Given the description of an element on the screen output the (x, y) to click on. 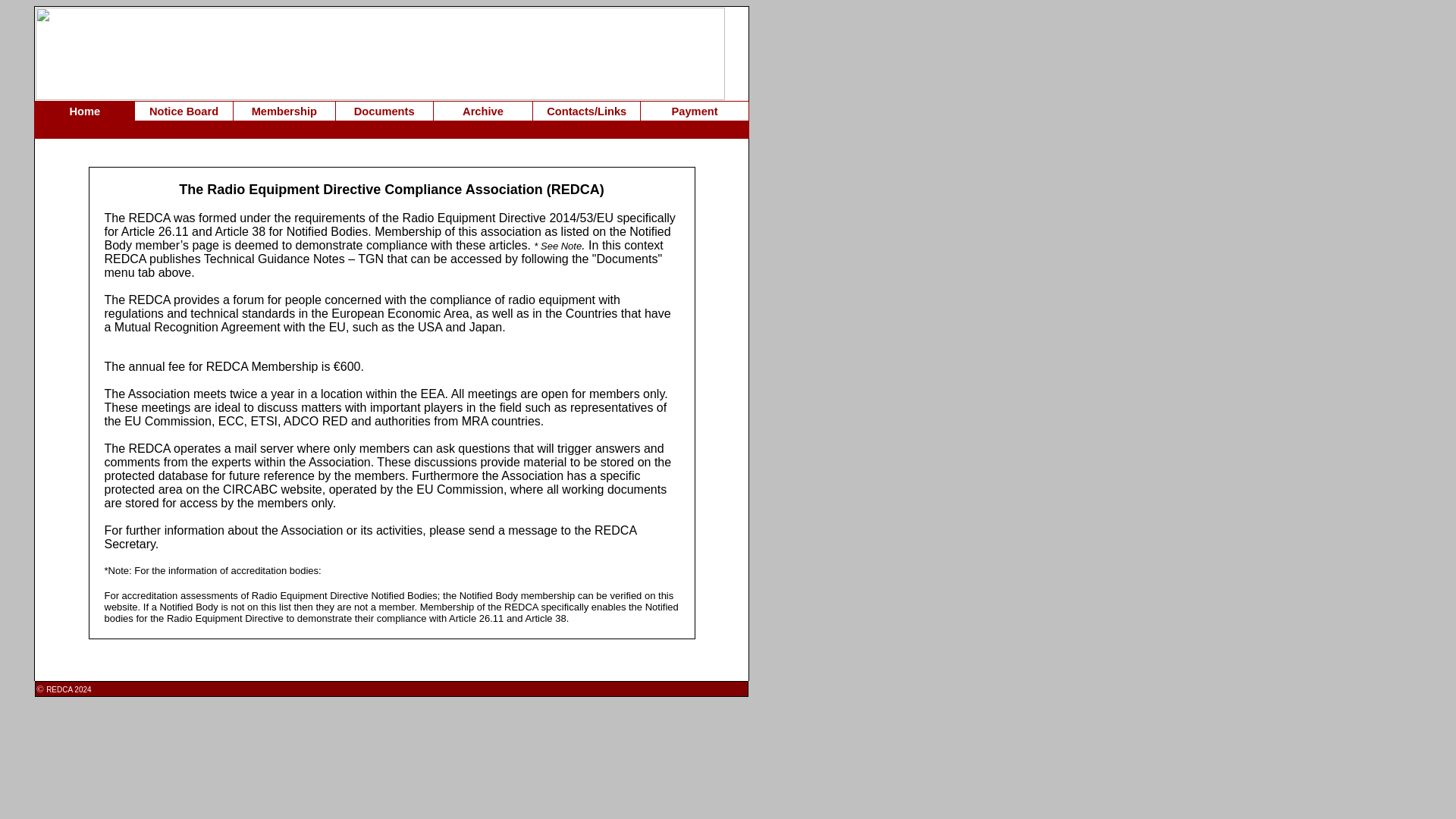
Archive (483, 110)
Payment (694, 110)
Membership (284, 110)
Notice Board (183, 110)
Documents (383, 110)
